Given the description of an element on the screen output the (x, y) to click on. 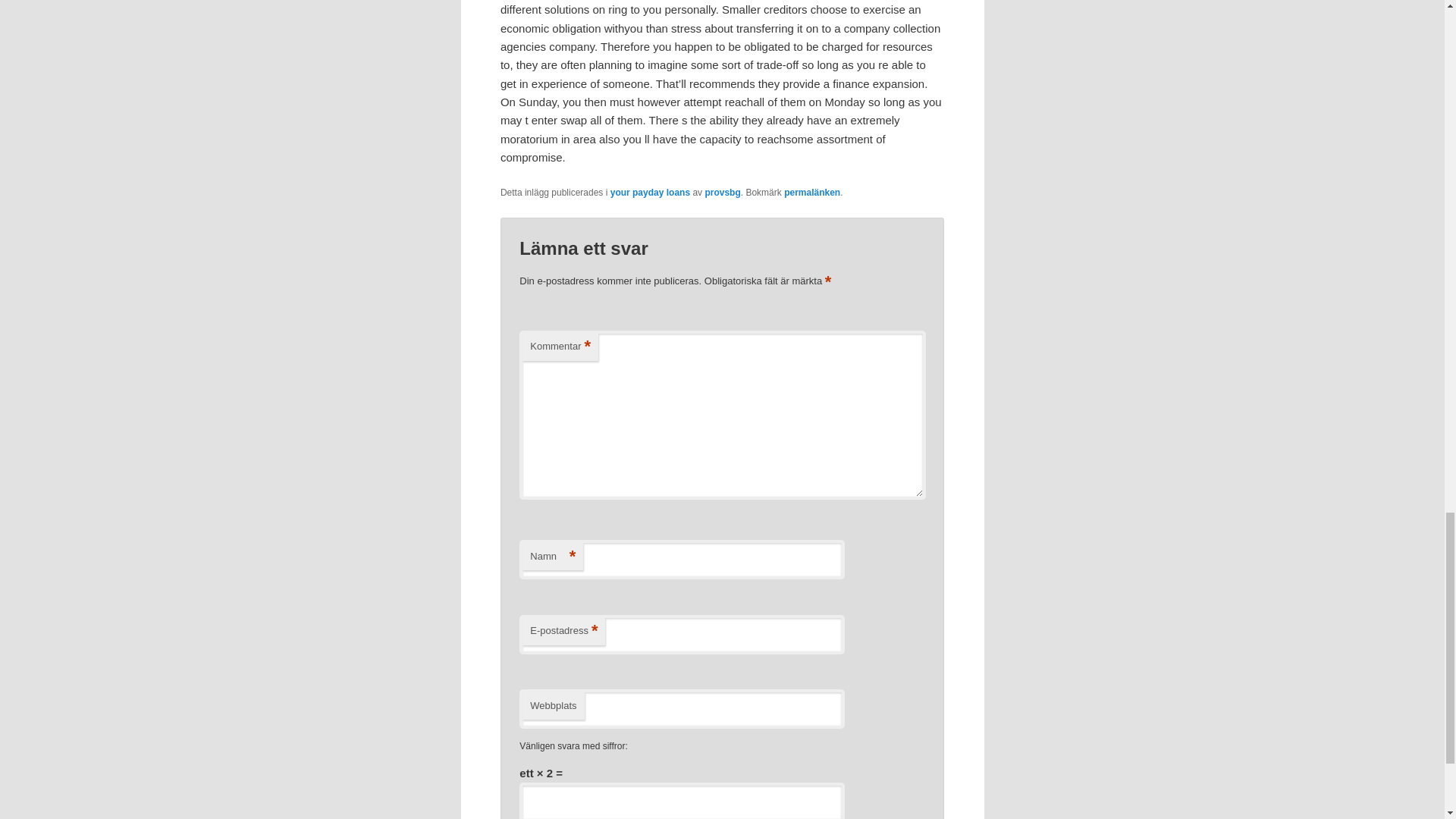
provsbg (721, 192)
your payday loans (650, 192)
